Given the description of an element on the screen output the (x, y) to click on. 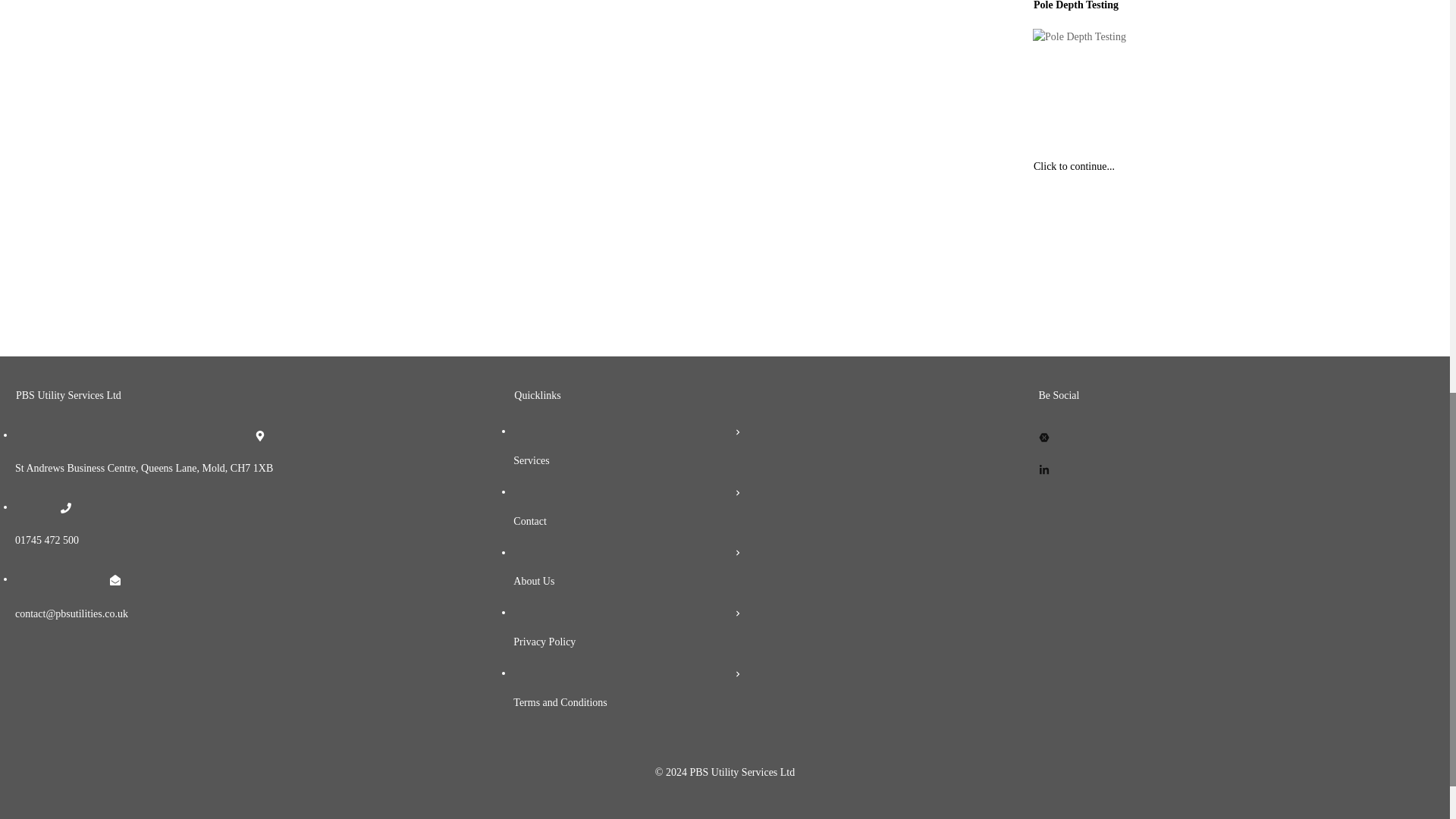
ncs (469, 75)
Back to the top (725, 801)
